Given the description of an element on the screen output the (x, y) to click on. 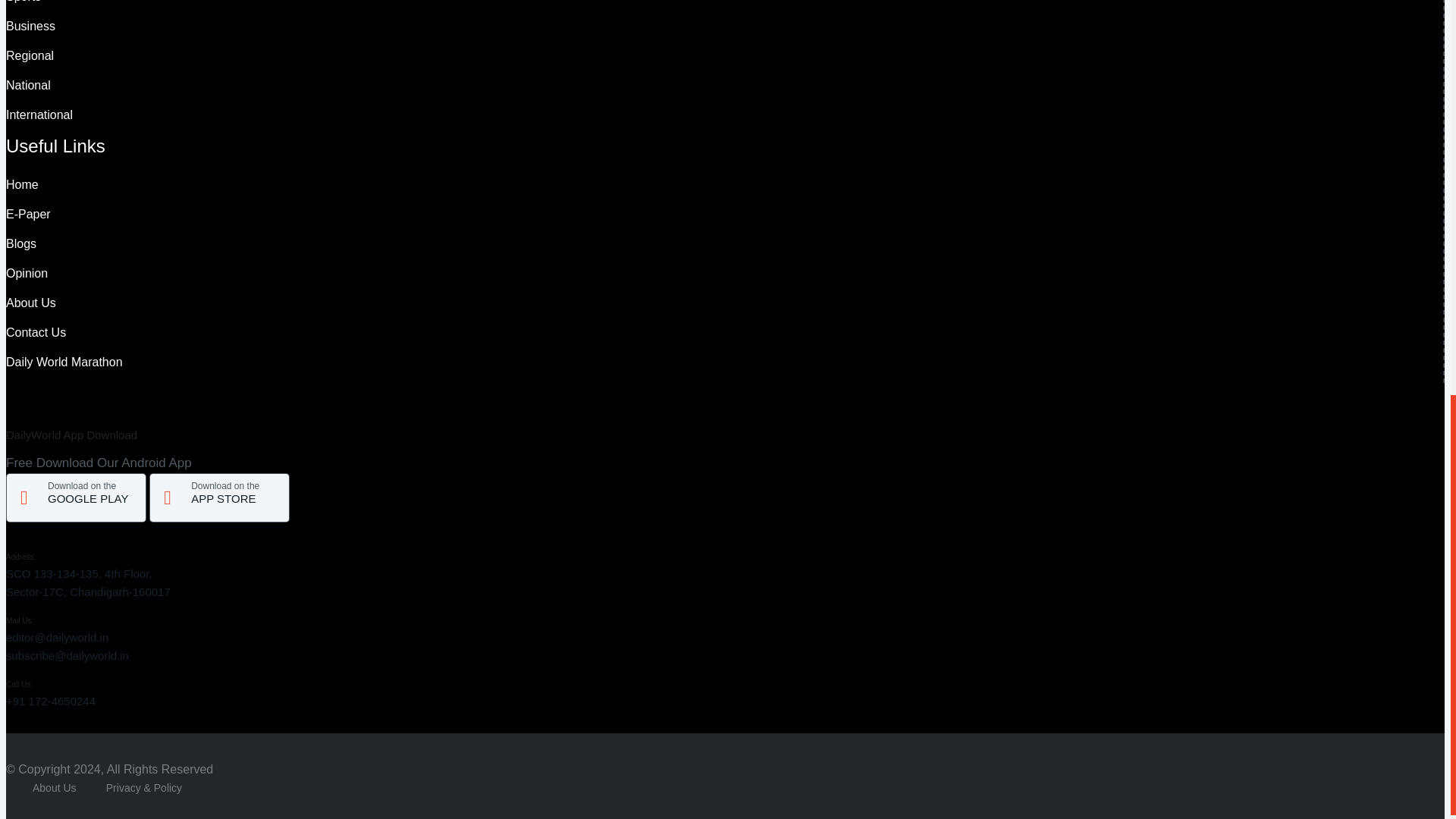
E-Paper (27, 214)
Opinion (26, 273)
Blogs (20, 243)
National (76, 497)
Regional (27, 84)
International (29, 55)
Contact Us (38, 114)
Business (35, 332)
Home (30, 25)
About Us (22, 184)
Sports (30, 302)
Daily World Marathon (22, 1)
